Given the description of an element on the screen output the (x, y) to click on. 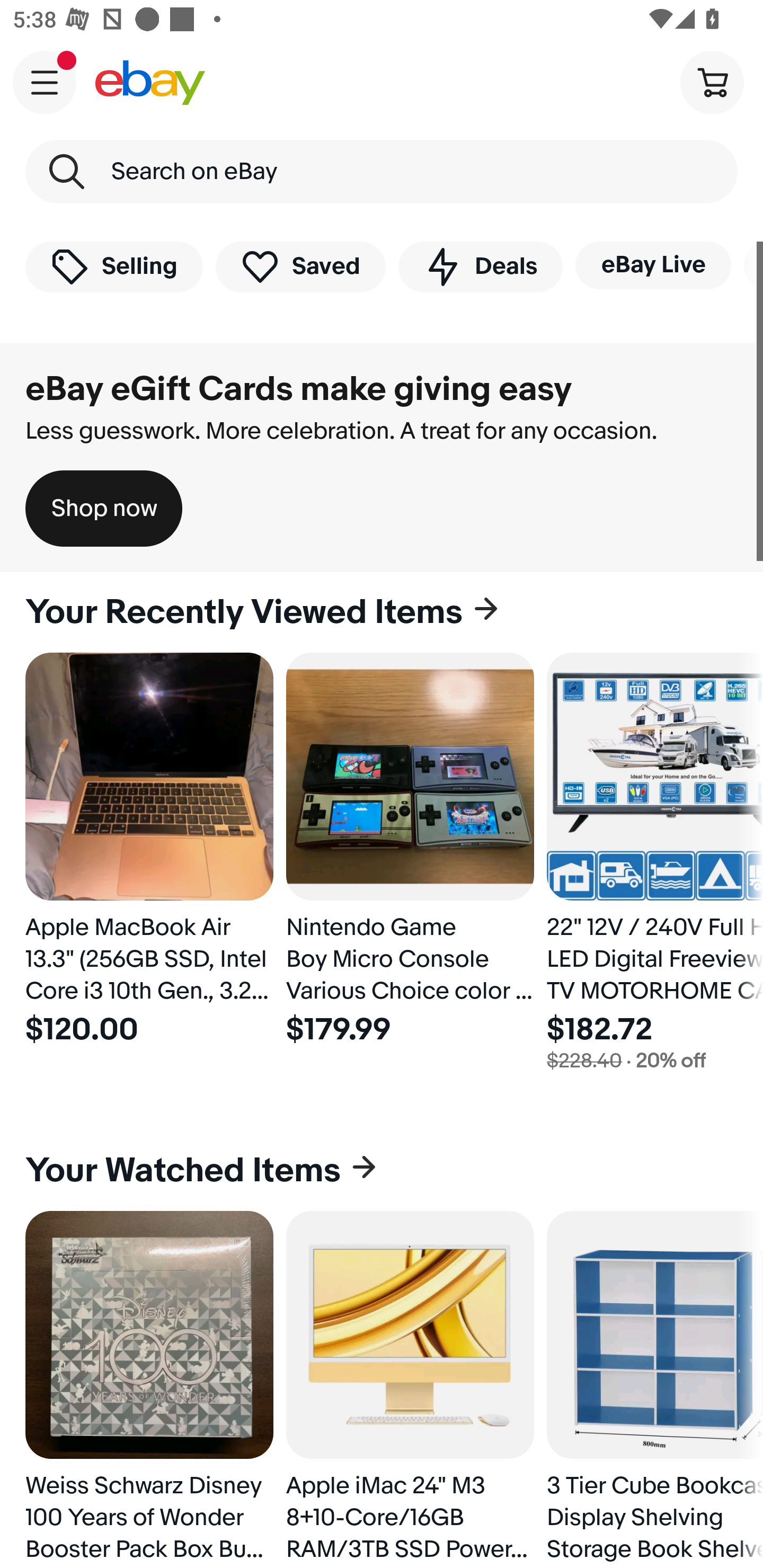
Main navigation, notification is pending, open (44, 82)
Cart button shopping cart (711, 81)
Search on eBay Search Keyword Search on eBay (381, 171)
Selling (113, 266)
Saved (300, 266)
Deals (480, 266)
eBay Live (652, 264)
eBay eGift Cards make giving easy (298, 389)
Shop now (103, 508)
Your Recently Viewed Items   (381, 612)
Your Watched Items   (381, 1170)
